Given the description of an element on the screen output the (x, y) to click on. 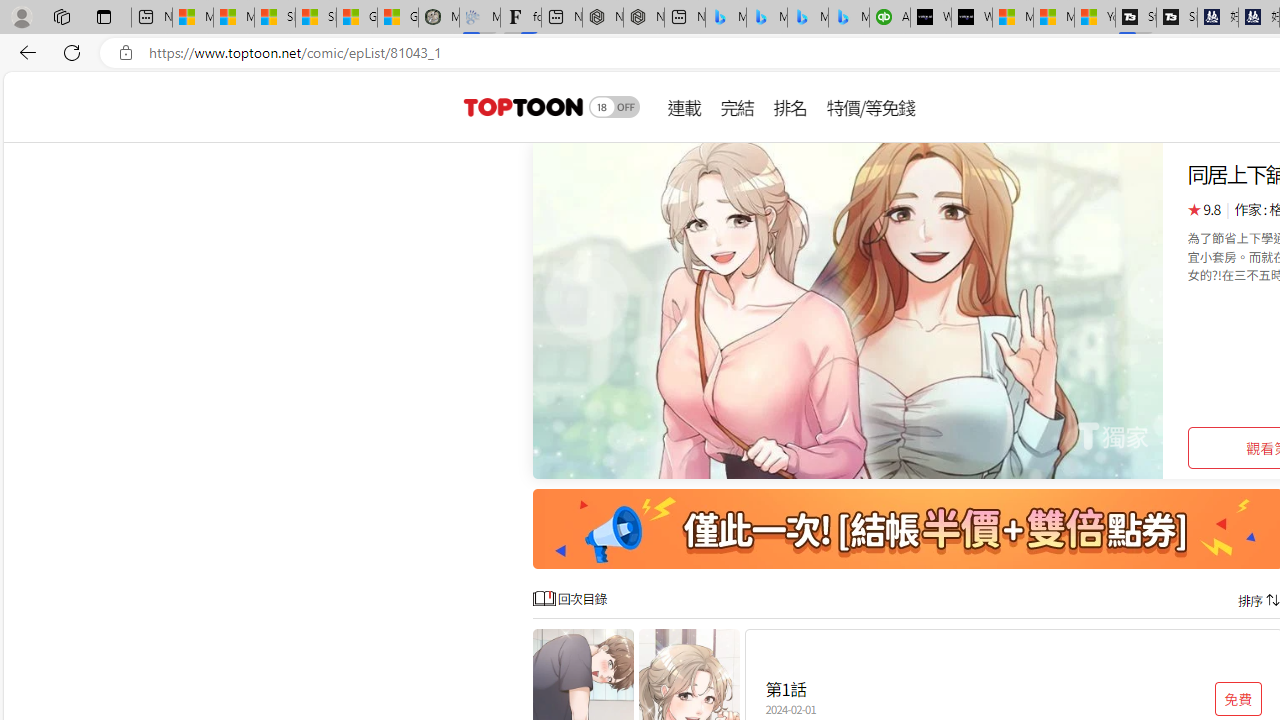
Accounting Software for Accountants, CPAs and Bookkeepers (890, 17)
Class:  switch_18mode actionAdultBtn (614, 106)
Class: swiper-slide (847, 310)
